Given the description of an element on the screen output the (x, y) to click on. 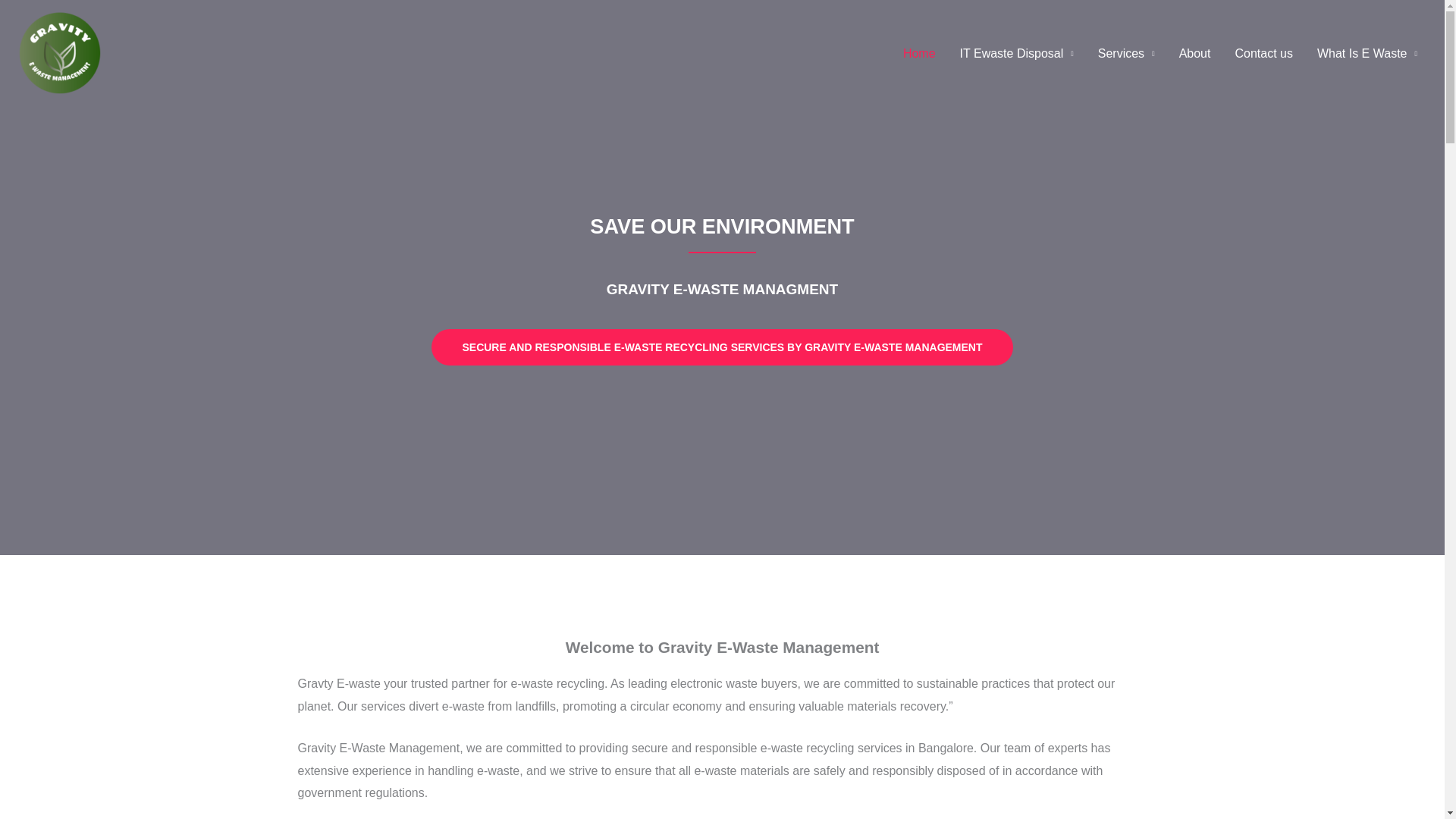
IT Ewaste Disposal (1016, 52)
What Is E Waste (1366, 52)
Services (1126, 52)
About (1195, 52)
Home (919, 52)
Contact us (1263, 52)
